Given the description of an element on the screen output the (x, y) to click on. 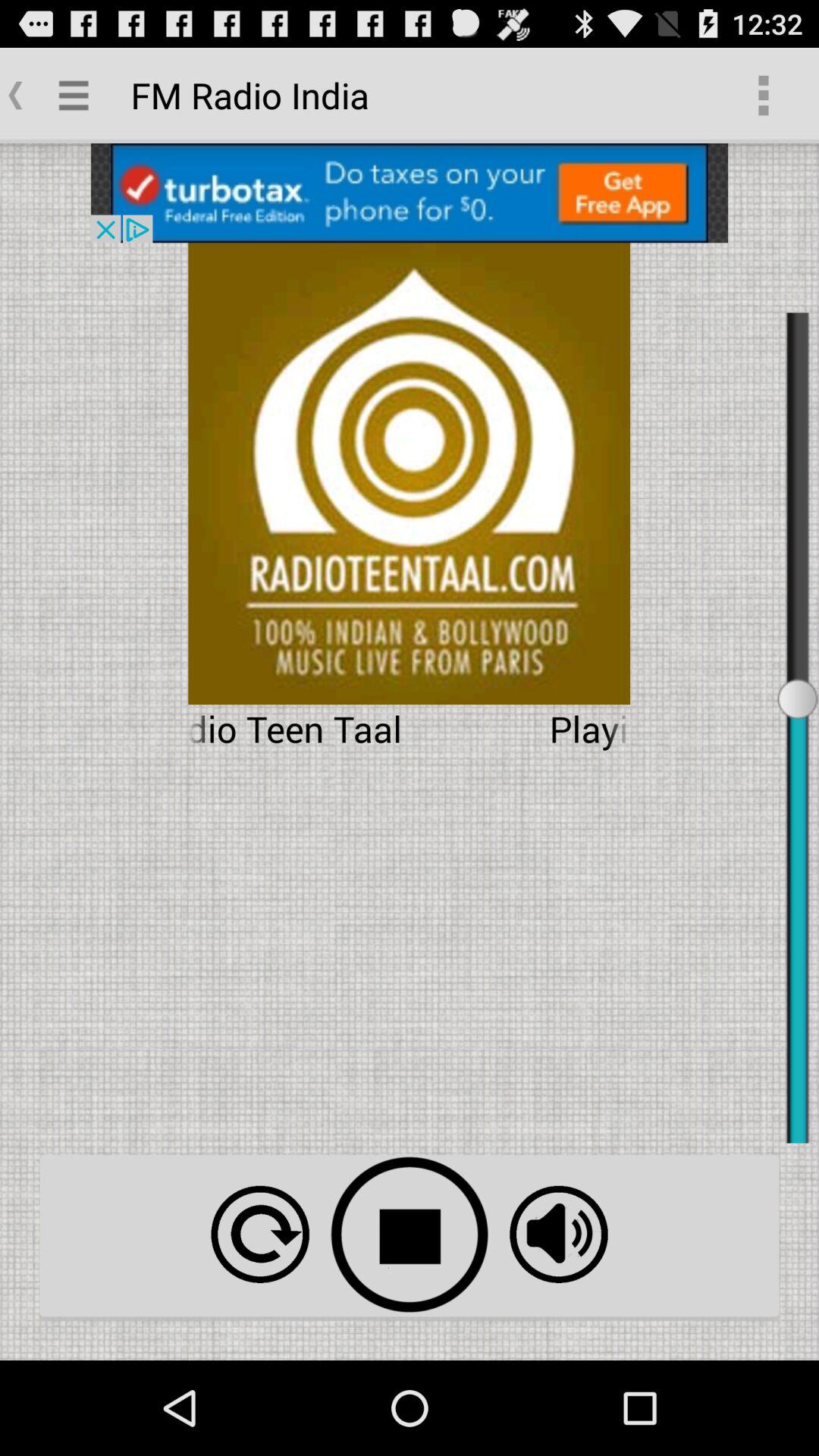
open advertisement (409, 192)
